Given the description of an element on the screen output the (x, y) to click on. 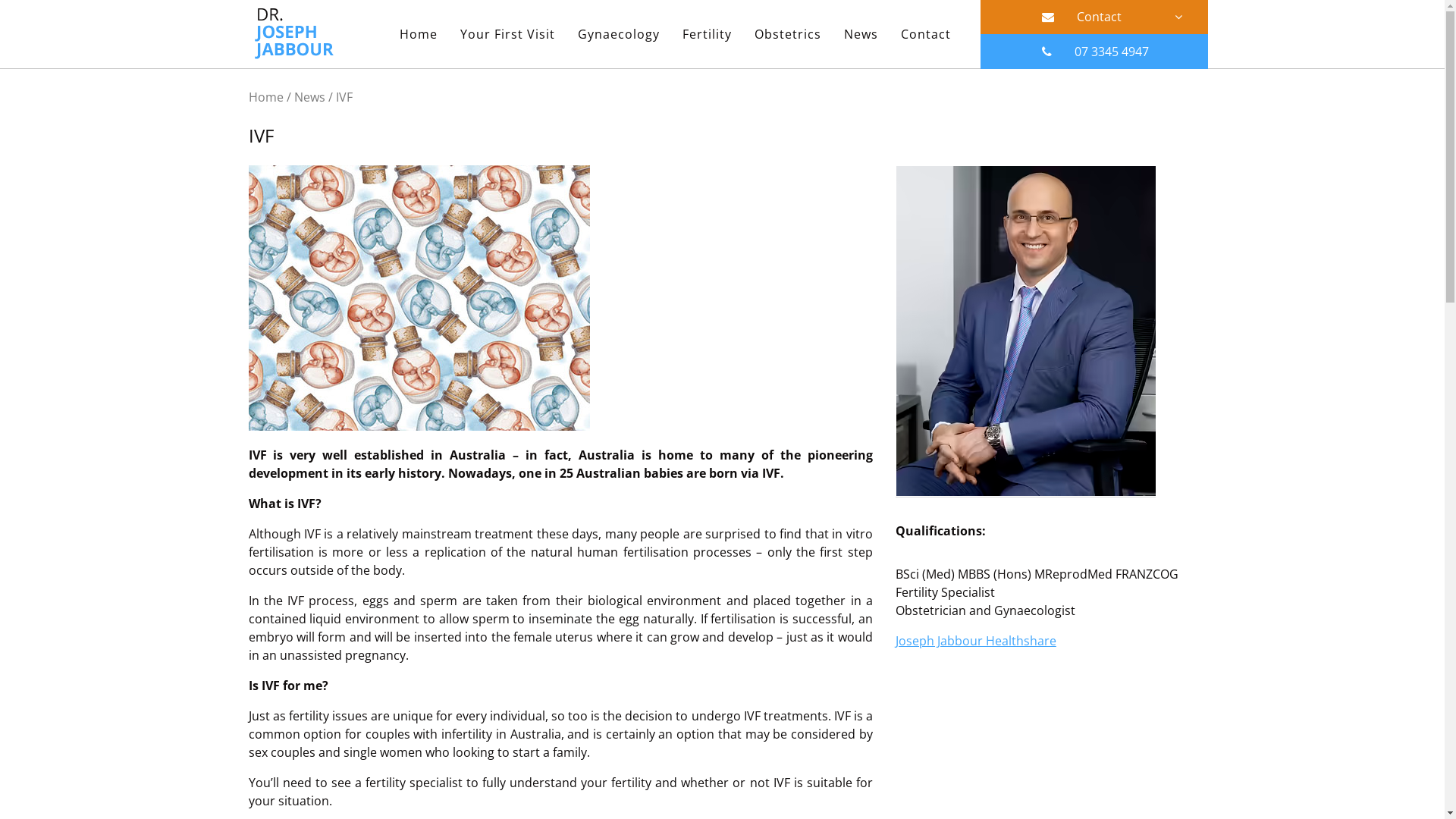
Joseph Jabbour Healthshare Element type: text (975, 640)
News Element type: text (309, 96)
Gynaecology Element type: text (617, 33)
News Element type: text (860, 33)
Your First Visit Element type: text (507, 33)
Fertility Element type: text (706, 33)
Home Element type: text (265, 96)
Home Element type: text (418, 33)
07 3345 4947 Element type: text (1093, 51)
Contact Element type: text (924, 33)
Obstetrics Element type: text (787, 33)
